Given the description of an element on the screen output the (x, y) to click on. 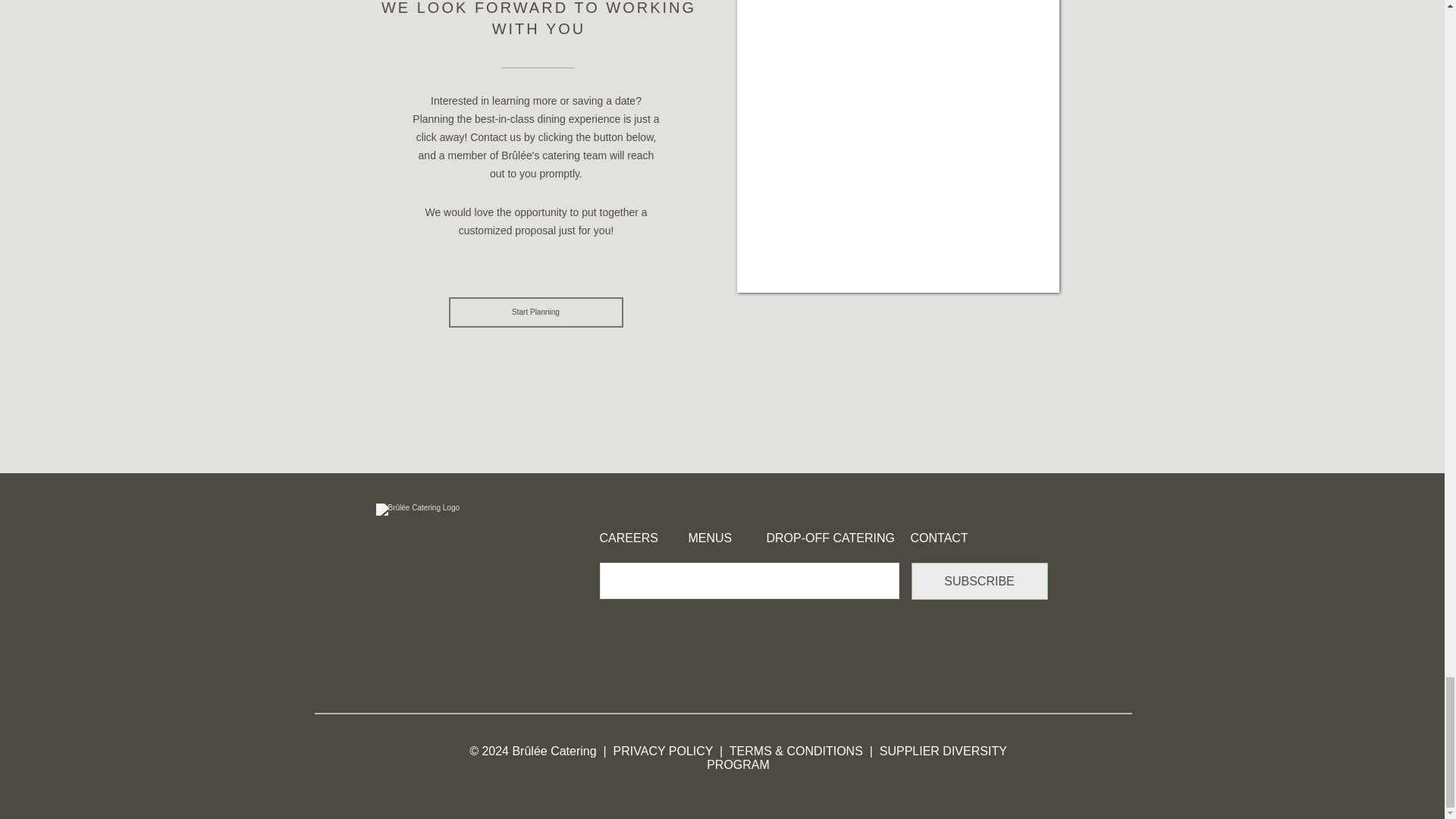
DROP-OFF CATERING (829, 538)
MENUS (732, 538)
SUPPLIER DIVERSITY PROGRAM (856, 757)
Start Planning (535, 312)
CAREERS (642, 538)
PRIVACY POLICY  (666, 750)
CONTACT (946, 538)
SUBSCRIBE (979, 580)
